Given the description of an element on the screen output the (x, y) to click on. 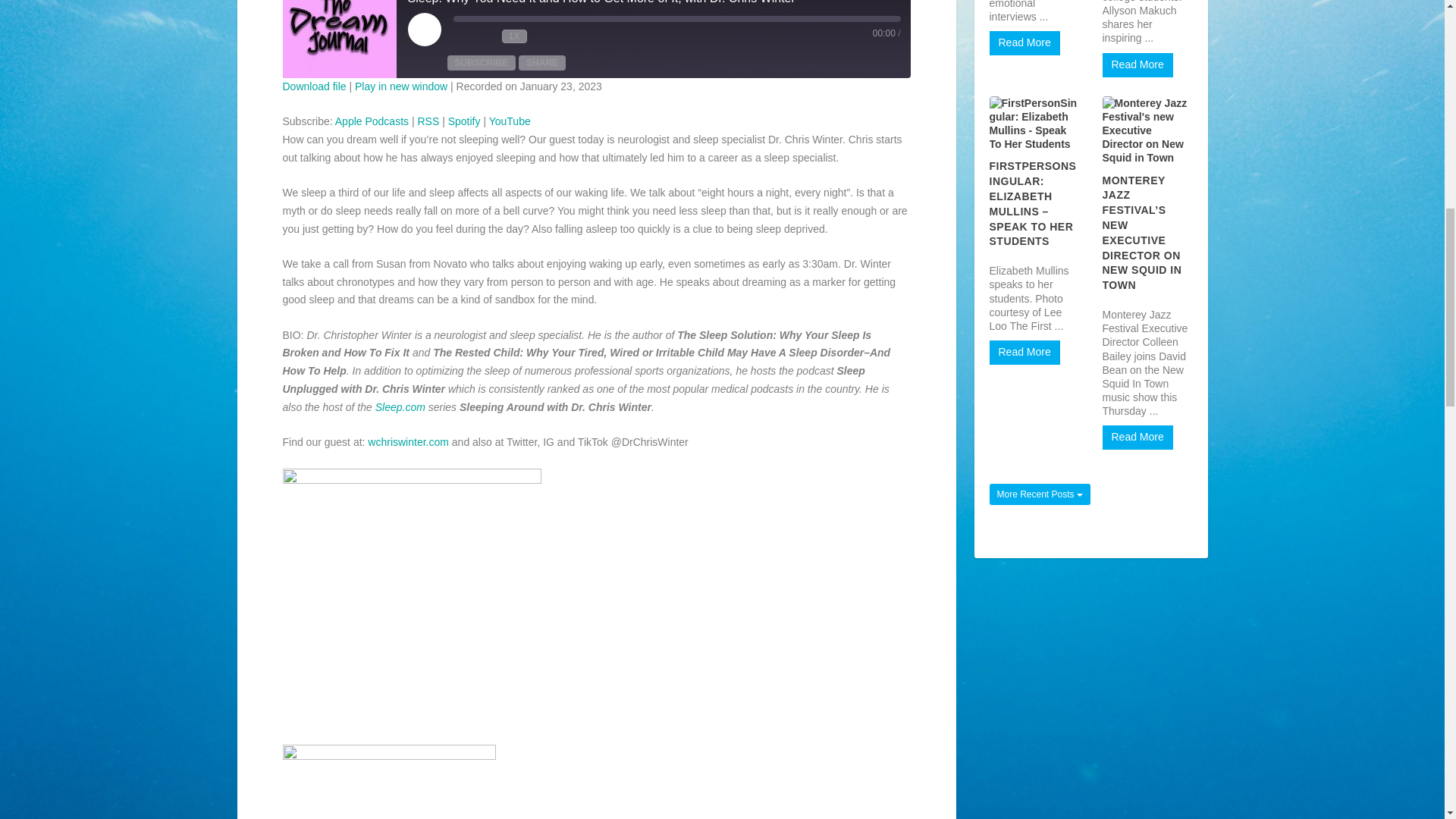
The Dream Journal (339, 38)
Subscribe (481, 62)
Seek (676, 18)
Playback Speed (514, 36)
Share (542, 62)
Play (424, 29)
Fast Forward 30 seconds (542, 36)
Rewind 10 seconds (487, 36)
